Given the description of an element on the screen output the (x, y) to click on. 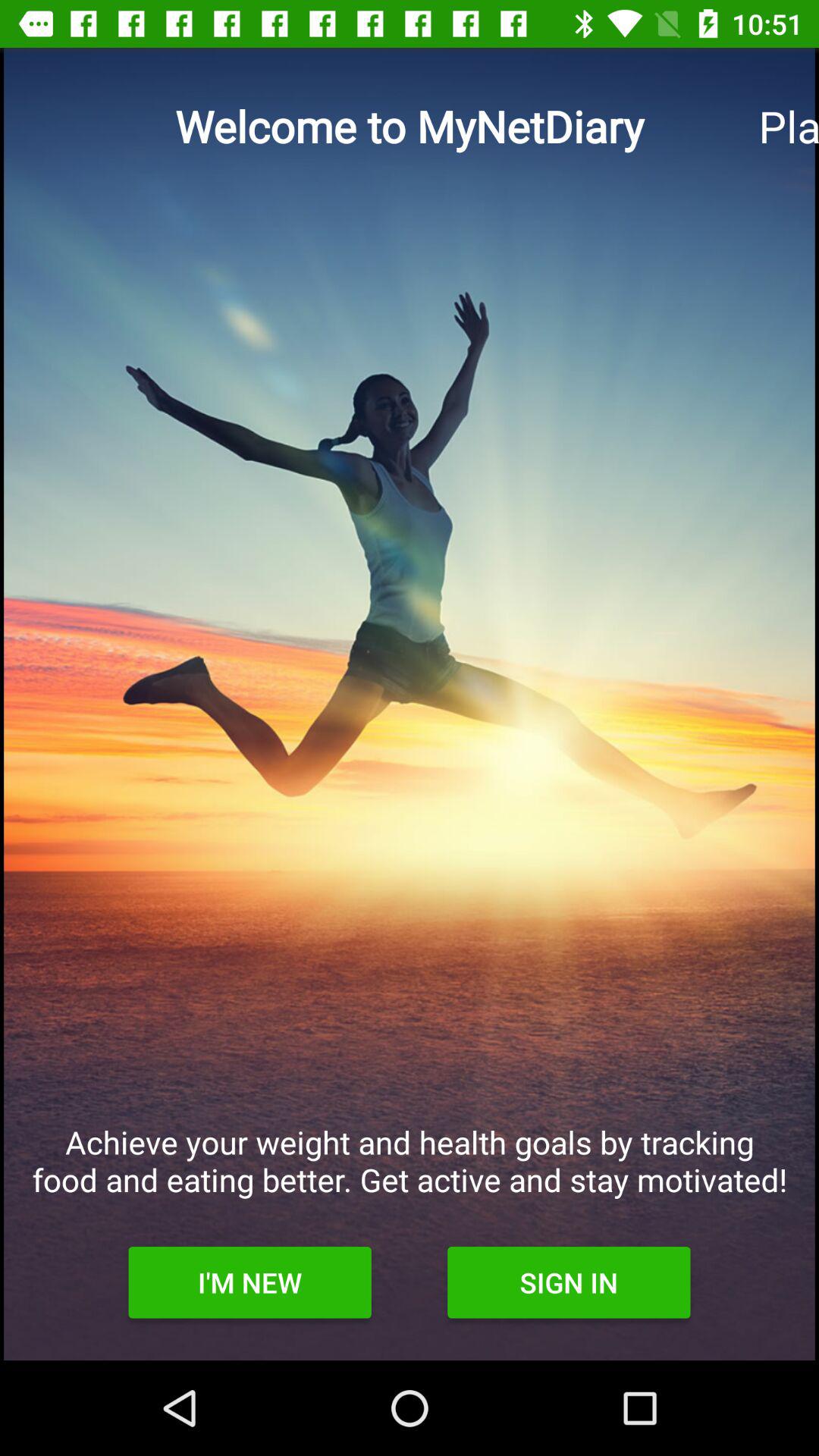
turn off the item below achieve your weight item (568, 1282)
